Given the description of an element on the screen output the (x, y) to click on. 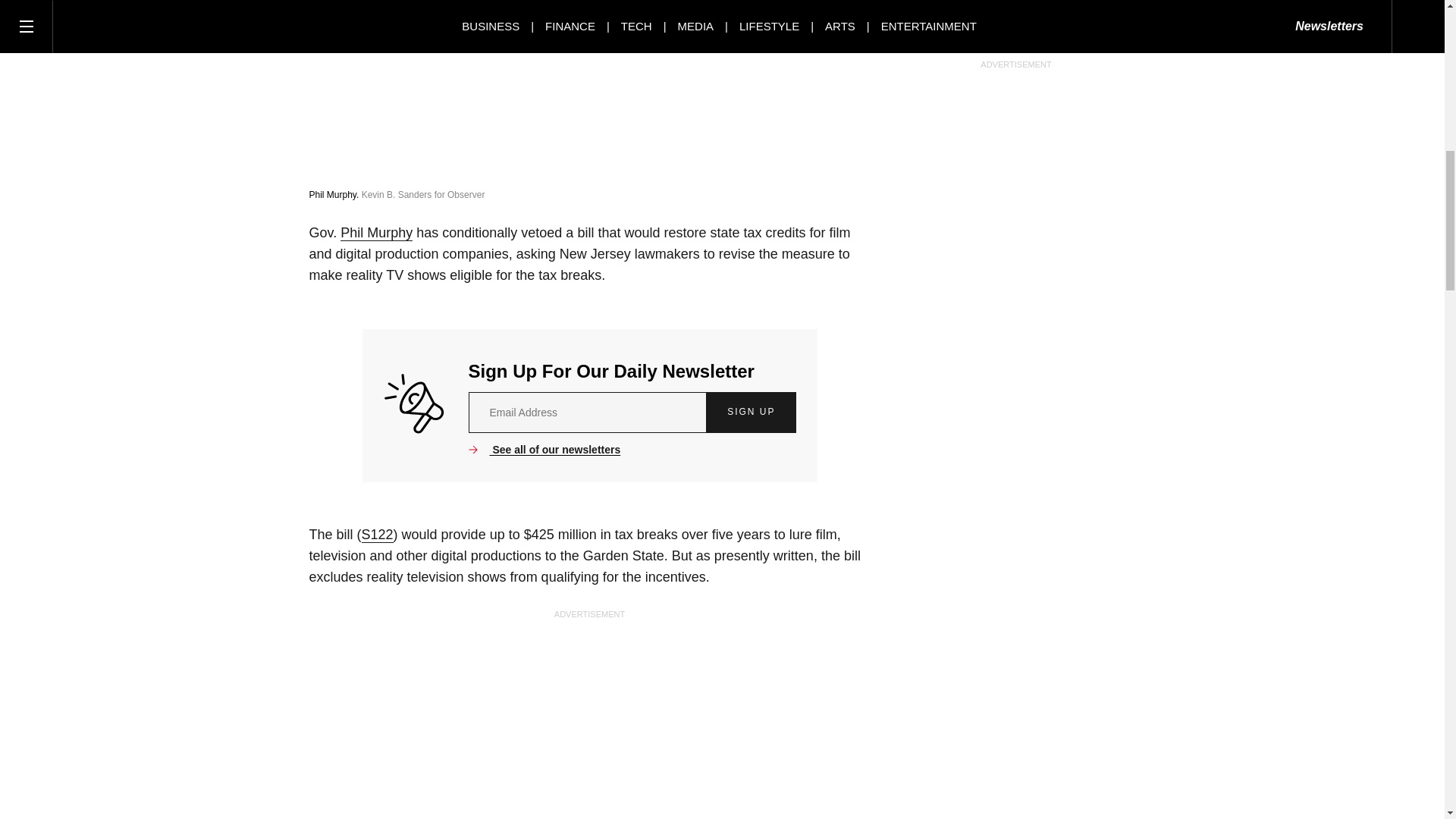
Phil Murphy (376, 232)
